Given the description of an element on the screen output the (x, y) to click on. 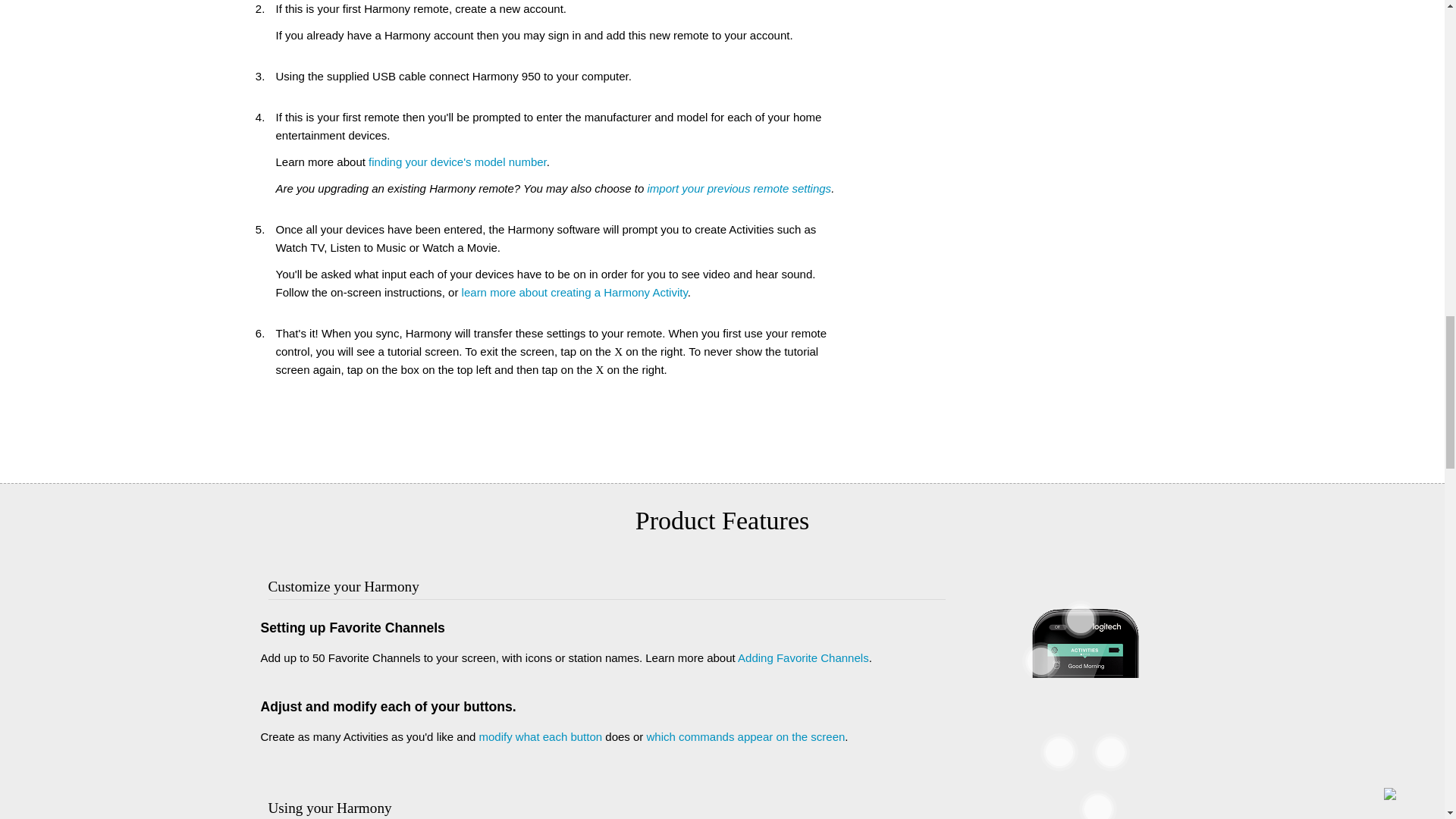
Adding Favorite Channels (803, 657)
learn more about creating a Harmony Activity (574, 291)
import your previous remote settings (739, 187)
modify what each button (540, 736)
finding your device's model number (457, 161)
which commands appear on the screen (745, 736)
